Given the description of an element on the screen output the (x, y) to click on. 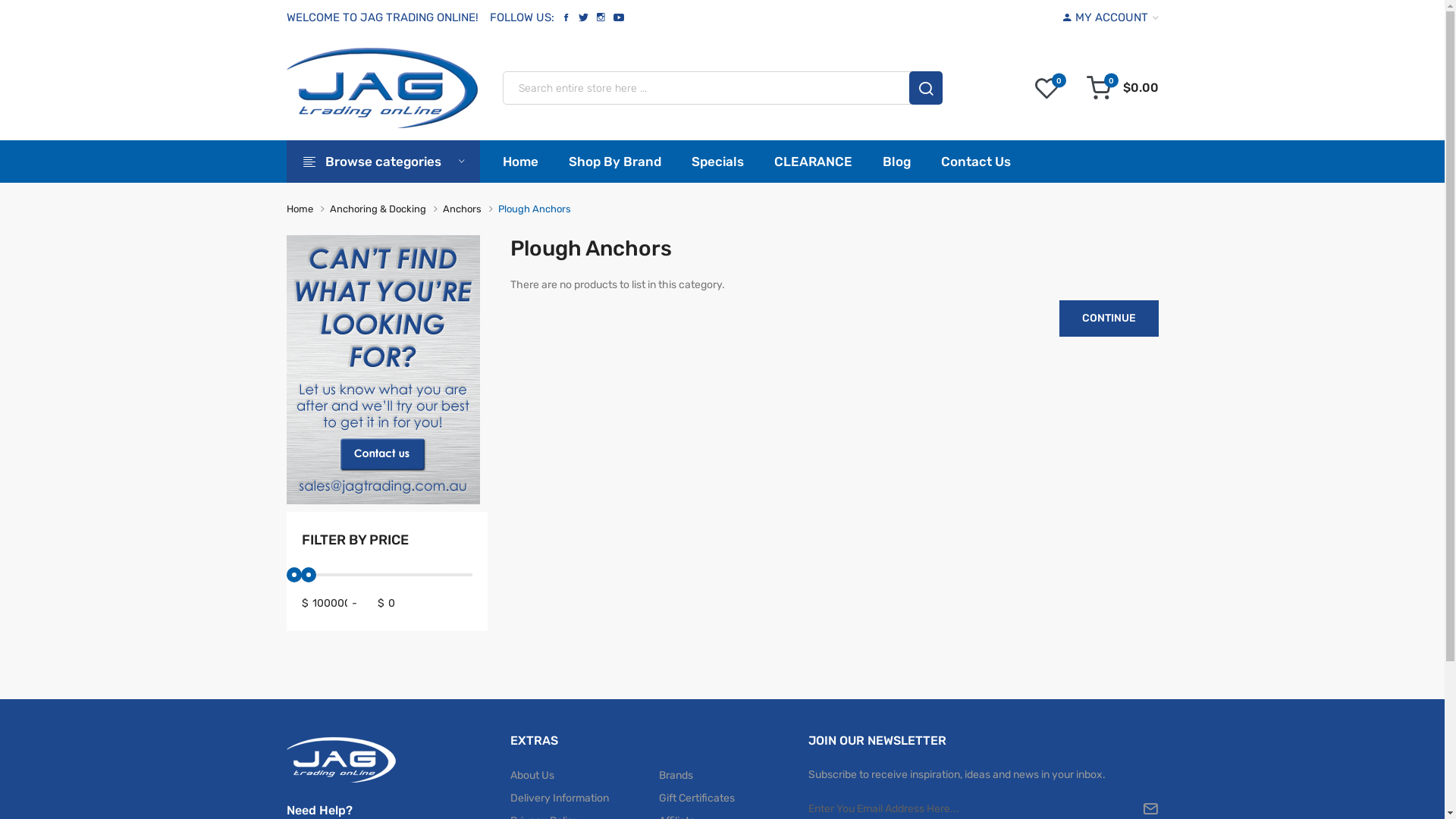
Twitter Element type: hover (583, 17)
Instagram Element type: hover (600, 17)
Jag Trading Online Element type: hover (381, 87)
MY ACCOUNT Element type: text (1110, 17)
Specials Element type: text (717, 161)
Gift Certificates Element type: text (721, 798)
CONTINUE Element type: text (1107, 318)
About Us Element type: text (583, 775)
Brands Element type: text (721, 775)
Wish list
0 Element type: text (1046, 87)
Anchors Element type: text (461, 208)
Home Element type: text (527, 161)
0
$0.00 Element type: text (1121, 87)
Facebook Element type: hover (565, 17)
Contact Us Element type: text (975, 161)
Plough Anchors Element type: text (533, 208)
Shop By Brand Element type: text (614, 161)
Home Element type: text (299, 208)
CLEARANCE Element type: text (812, 161)
Blog Element type: text (896, 161)
Youtube Element type: hover (618, 17)
Anchoring & Docking Element type: text (377, 208)
Delivery Information Element type: text (583, 798)
